Given the description of an element on the screen output the (x, y) to click on. 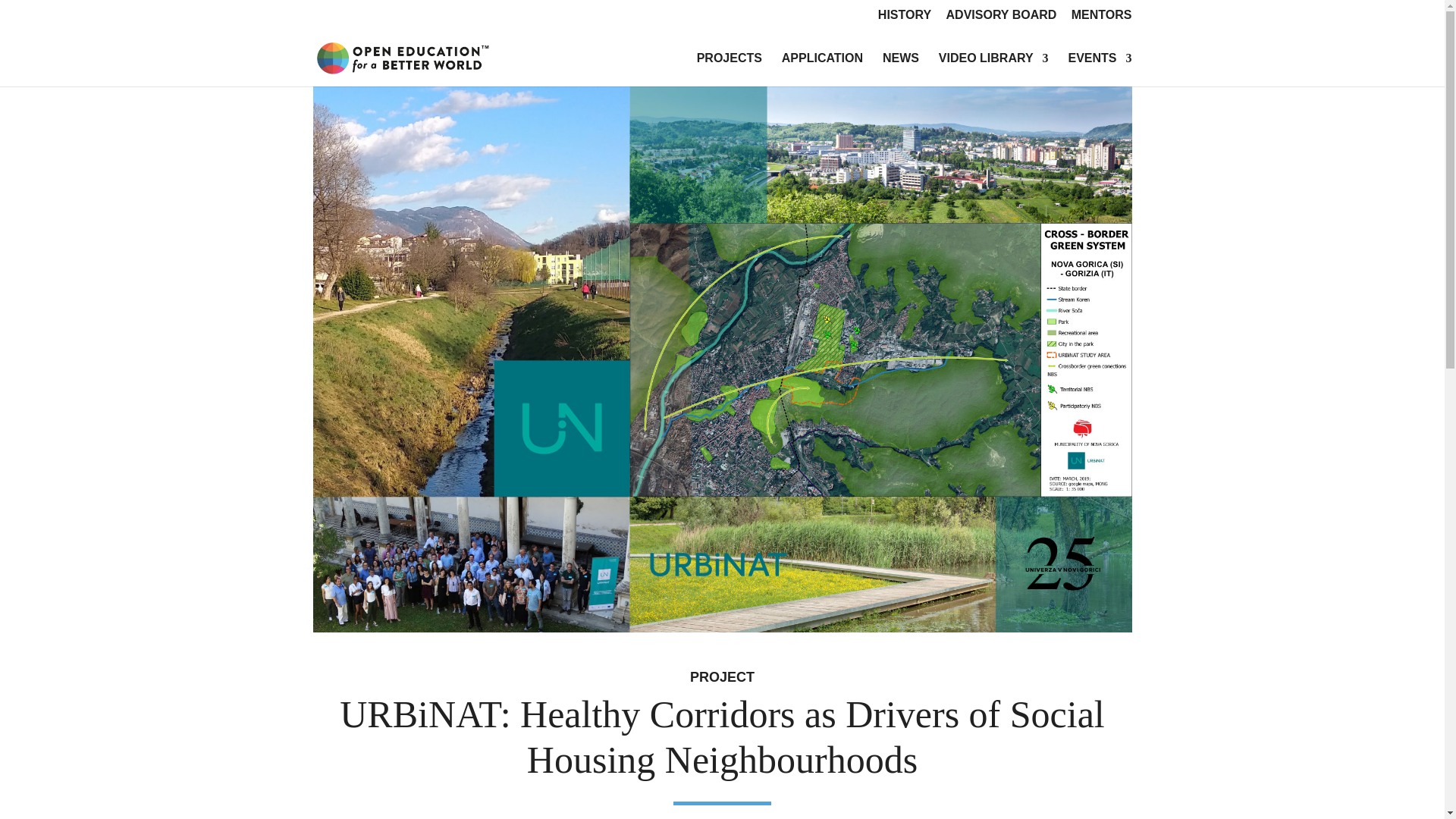
NEWS (900, 69)
APPLICATION (822, 69)
ADVISORY BOARD (1001, 19)
VIDEO LIBRARY (993, 69)
HISTORY (904, 19)
MENTORS (1101, 19)
PROJECTS (729, 69)
EVENTS (1099, 69)
